Given the description of an element on the screen output the (x, y) to click on. 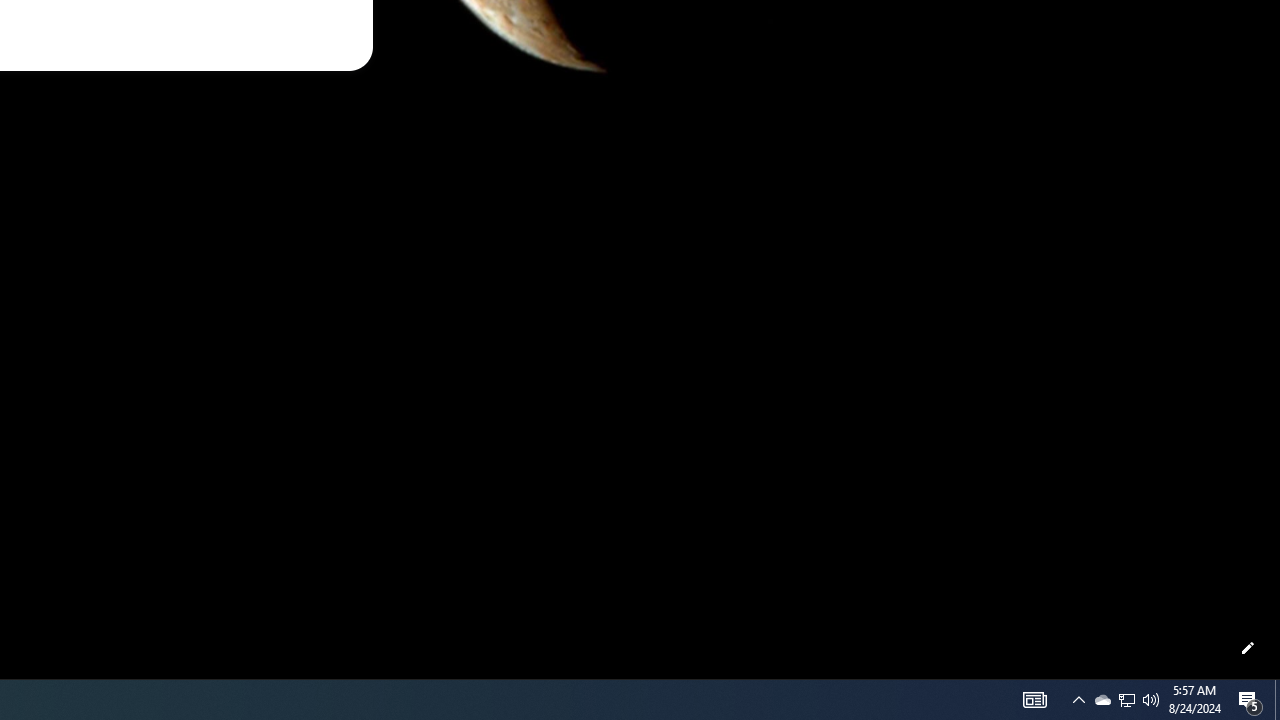
Customize this page (1247, 647)
